Given the description of an element on the screen output the (x, y) to click on. 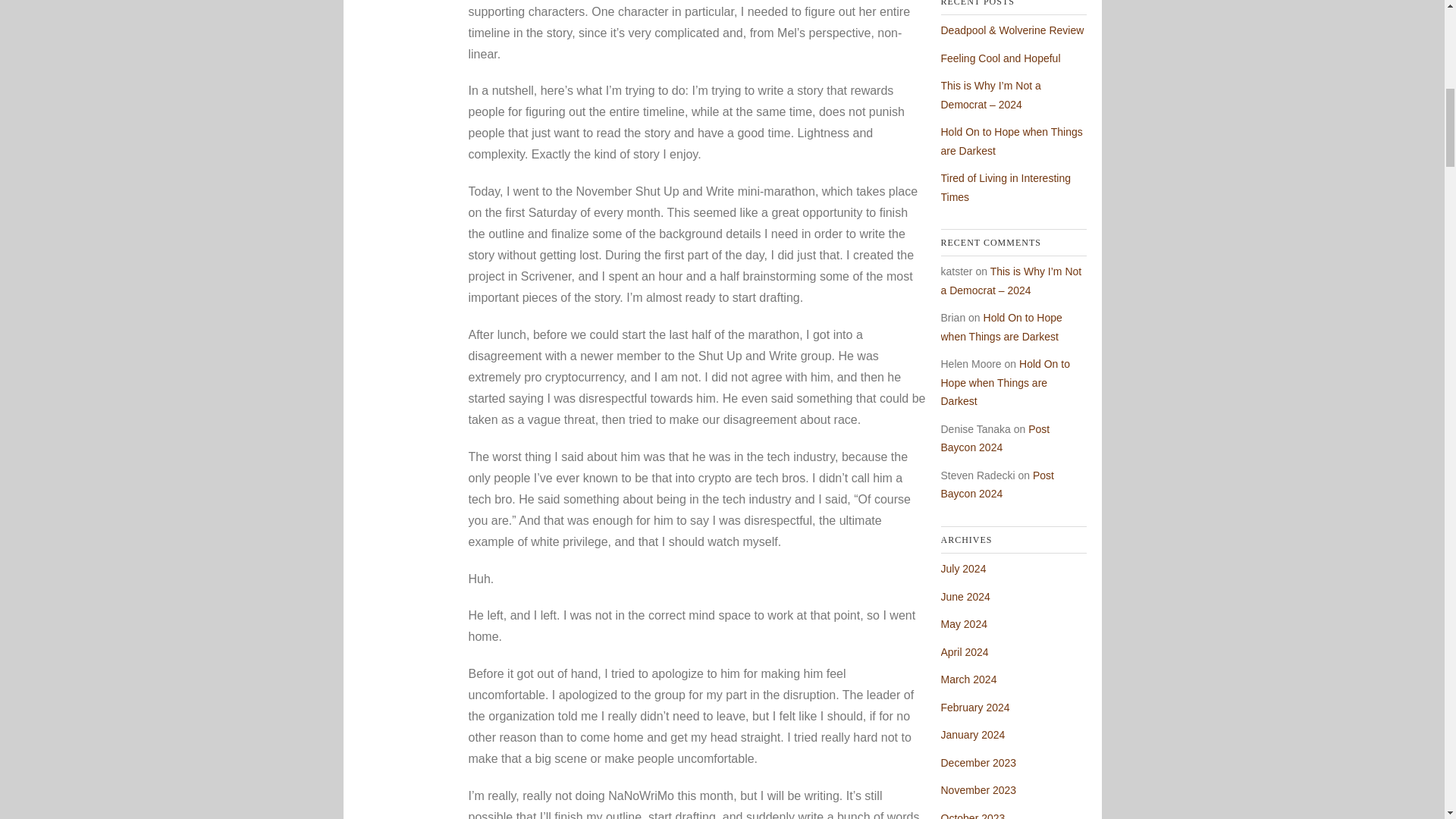
February 2024 (974, 707)
June 2024 (965, 596)
April 2024 (964, 652)
Feeling Cool and Hopeful (999, 58)
Hold On to Hope when Things are Darkest (1000, 327)
May 2024 (963, 623)
January 2024 (972, 734)
Post Baycon 2024 (994, 438)
Hold On to Hope when Things are Darkest (1004, 382)
Tired of Living in Interesting Times (1005, 187)
